Given the description of an element on the screen output the (x, y) to click on. 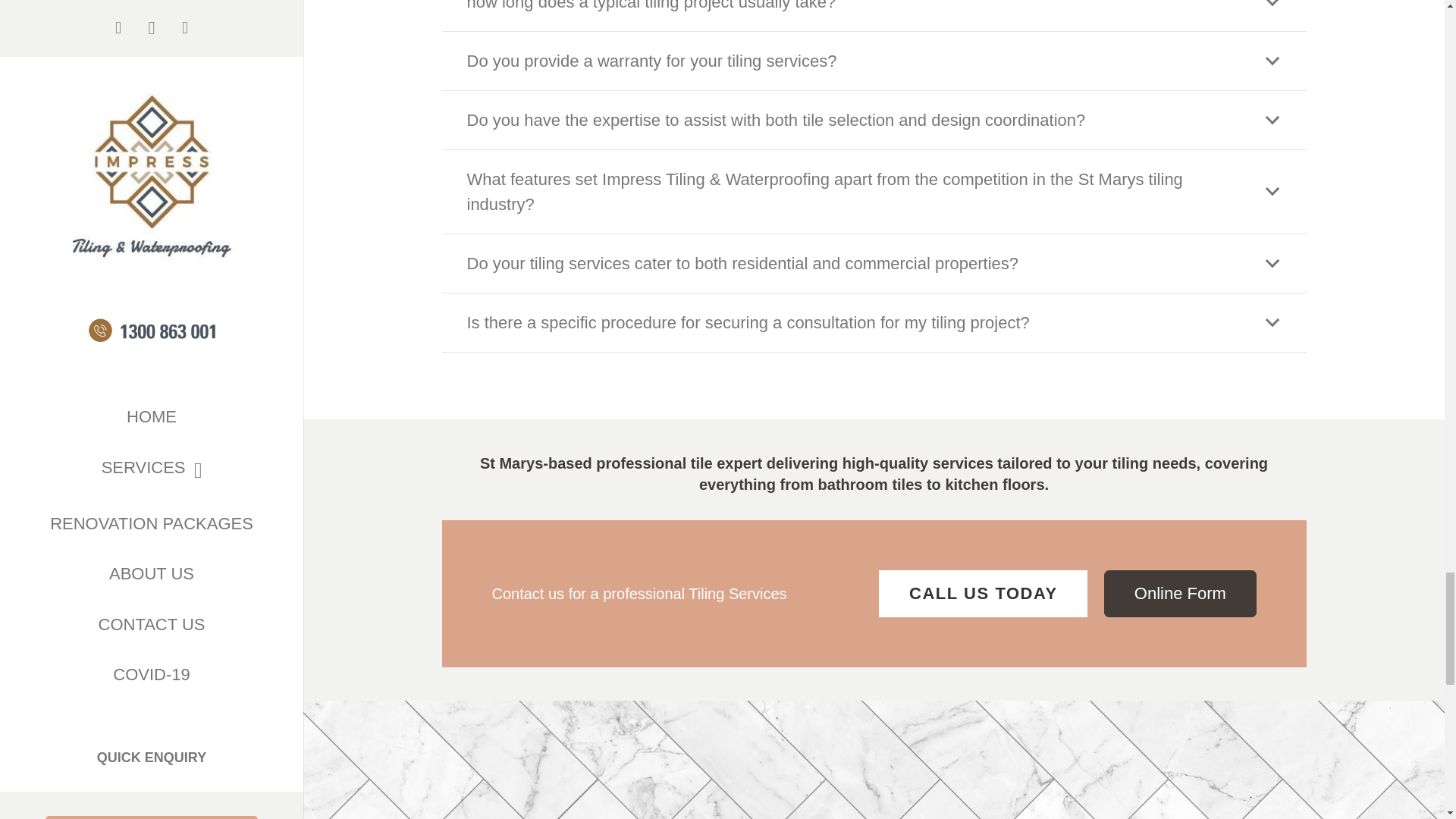
how long does a typical tiling project usually take? (873, 15)
CALL US TODAY (983, 593)
Online Form (1179, 593)
Contact (1179, 593)
Do you provide a warranty for your tiling services? (873, 60)
